Given the description of an element on the screen output the (x, y) to click on. 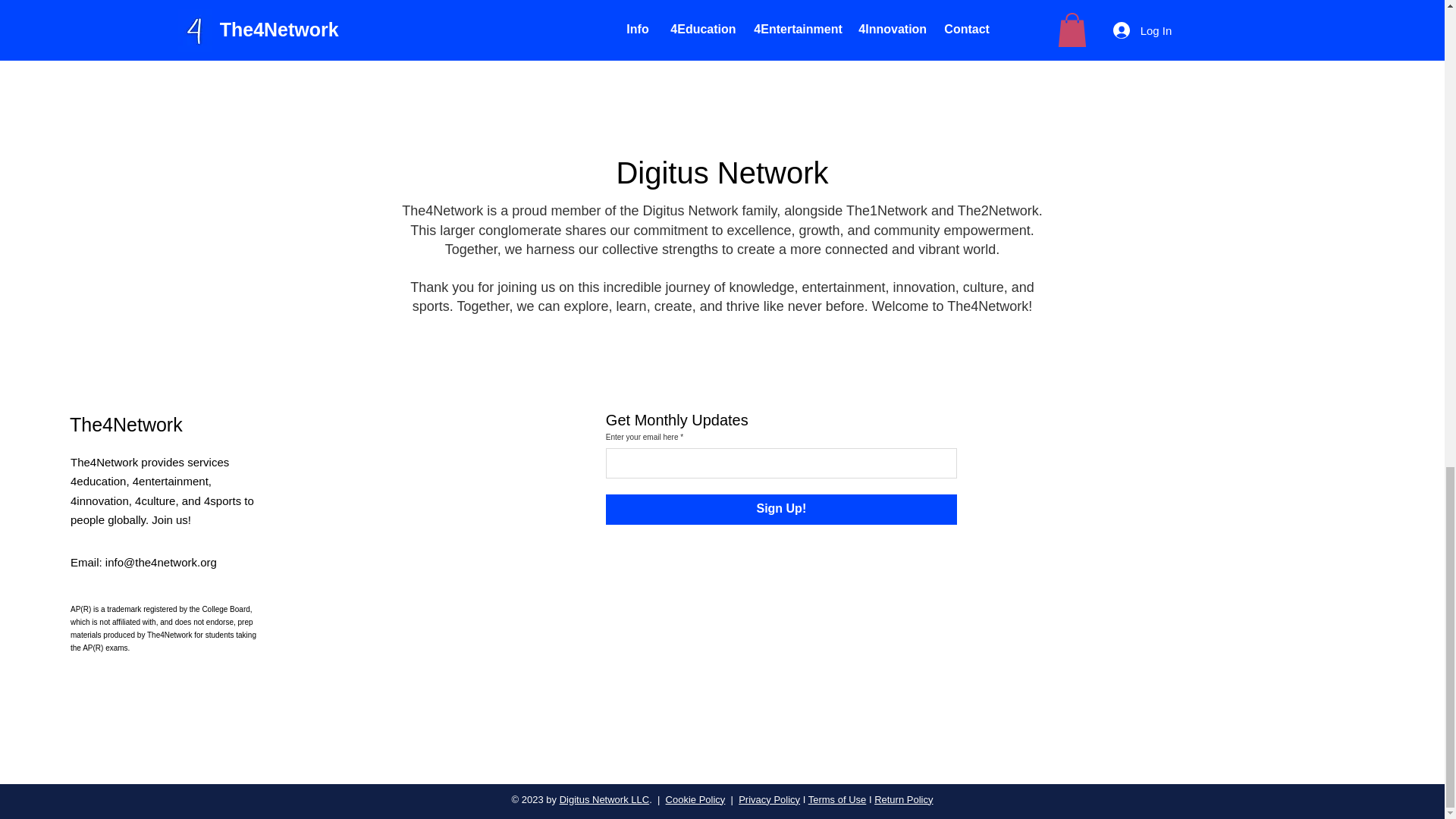
Digitus Network LLC (604, 799)
Return Policy (904, 799)
Sign Up! (780, 509)
Terms of Use (837, 799)
Privacy Policy (768, 799)
Cookie Policy (695, 799)
